Given the description of an element on the screen output the (x, y) to click on. 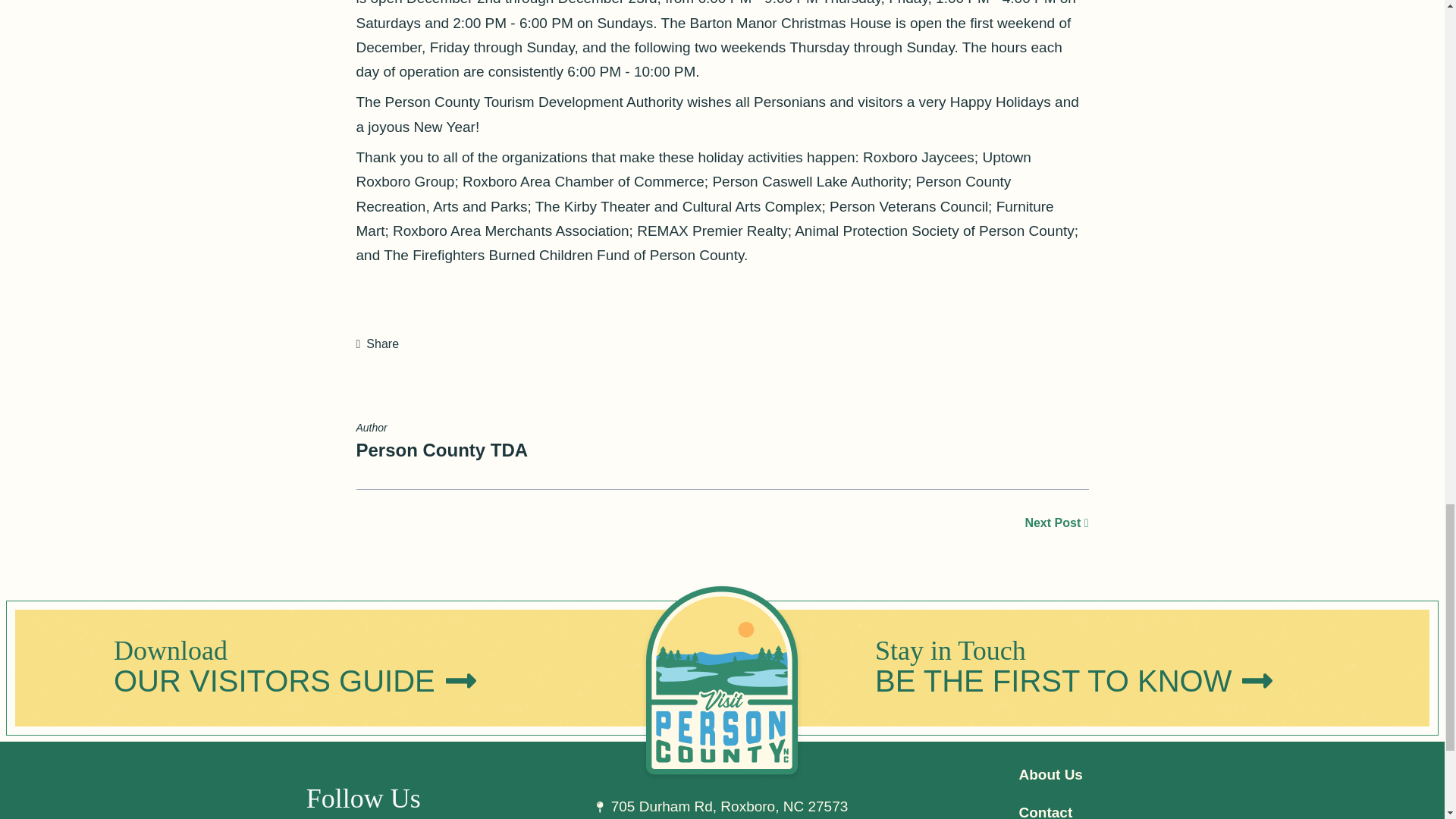
Contact (1044, 811)
About Us (1049, 774)
Share (377, 343)
